Given the description of an element on the screen output the (x, y) to click on. 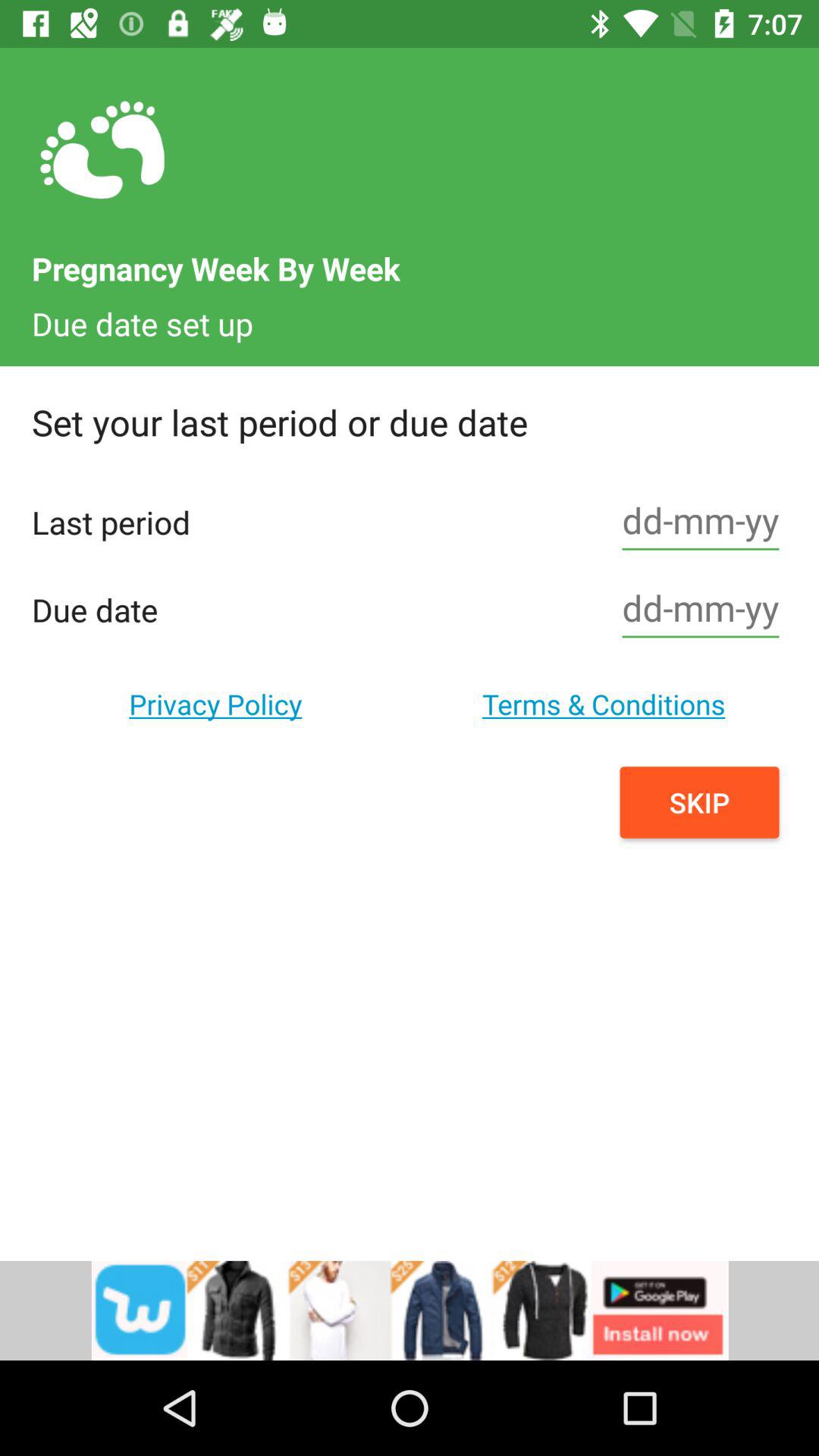
date field (700, 521)
